Given the description of an element on the screen output the (x, y) to click on. 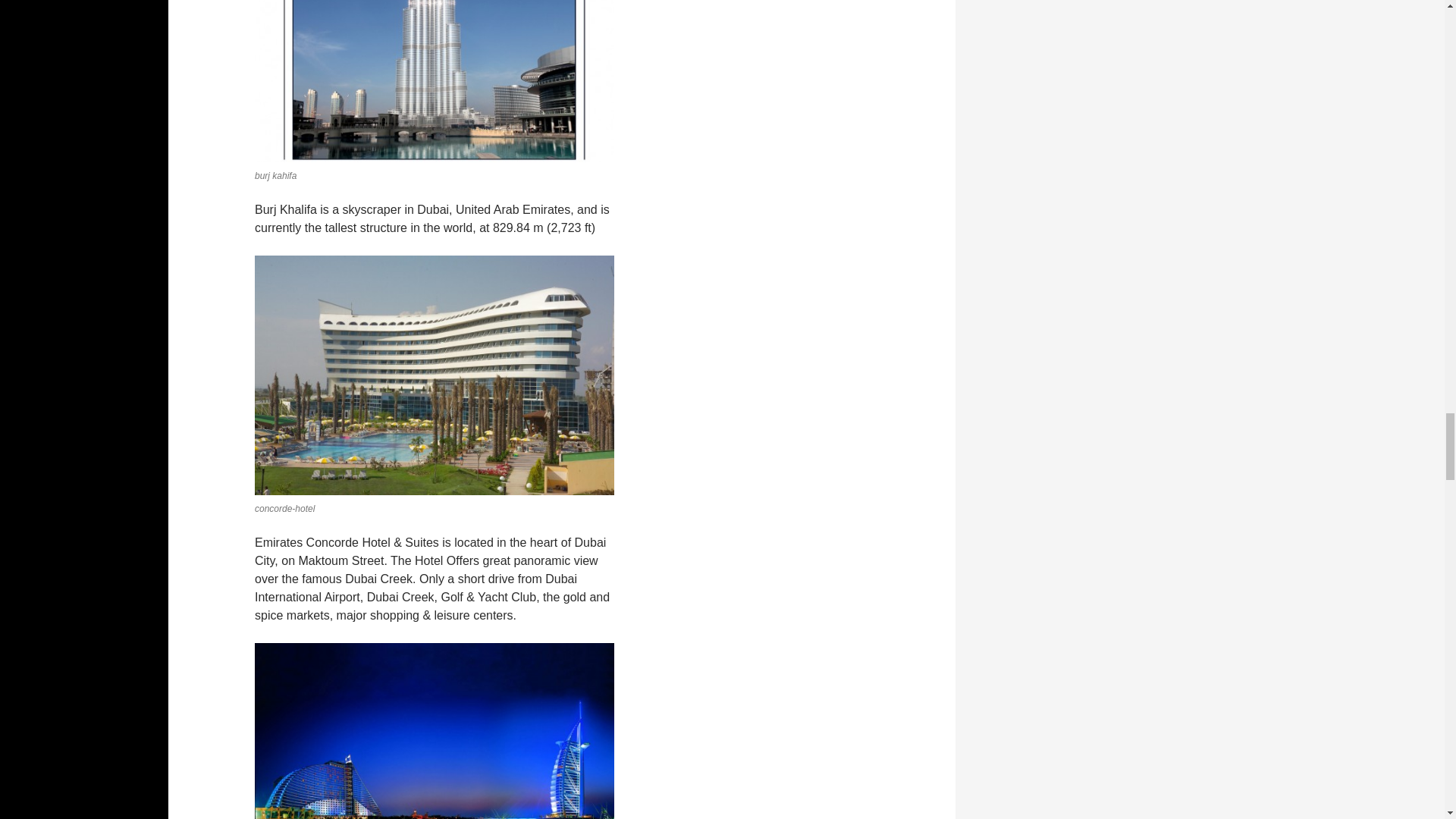
burj kahifa (434, 81)
concorde-hotel-exterior (434, 375)
Dubai-Jumeirah-Beach-Wallpaper (434, 730)
